Given the description of an element on the screen output the (x, y) to click on. 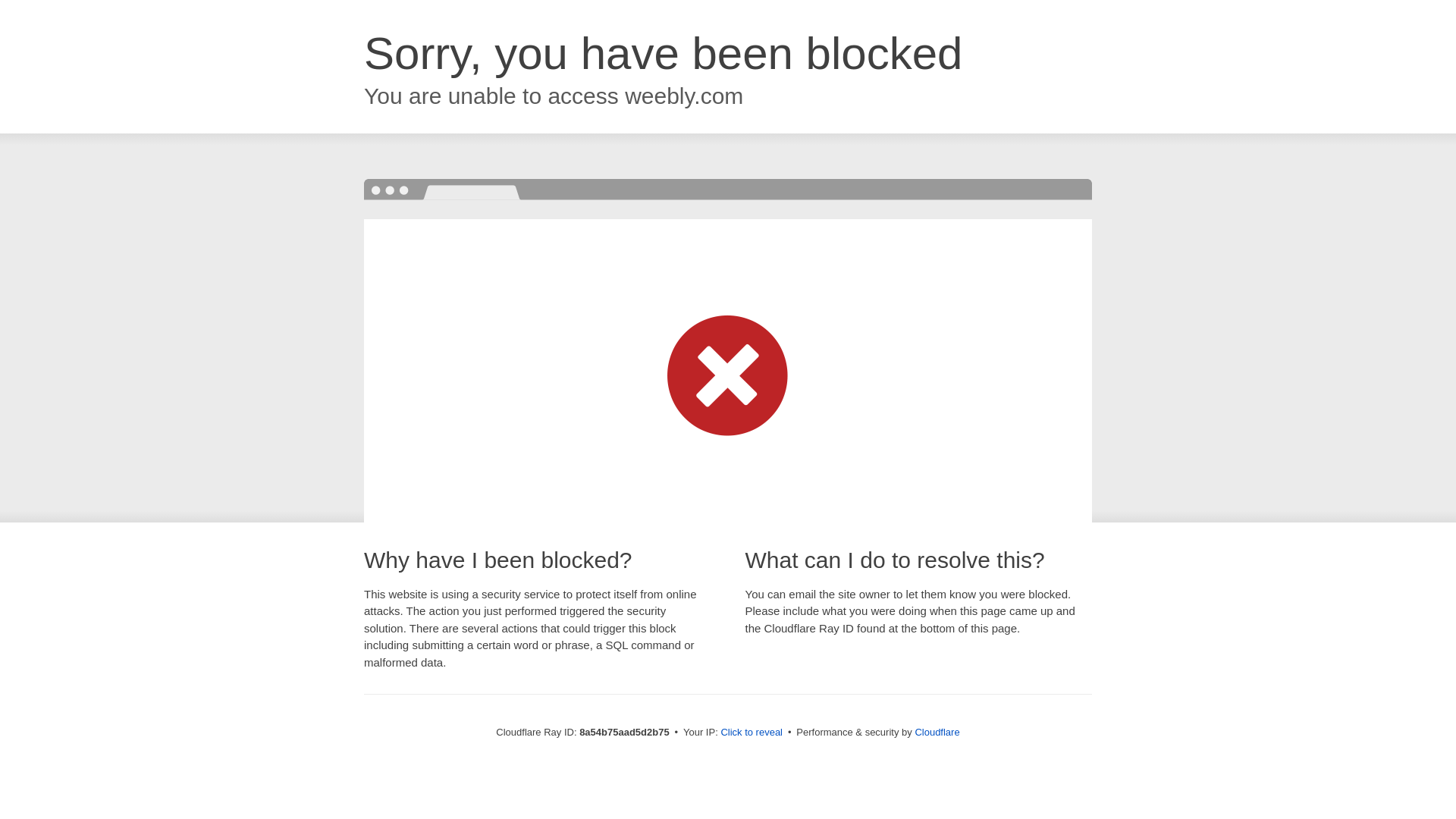
Click to reveal (751, 732)
Cloudflare (936, 731)
